Given the description of an element on the screen output the (x, y) to click on. 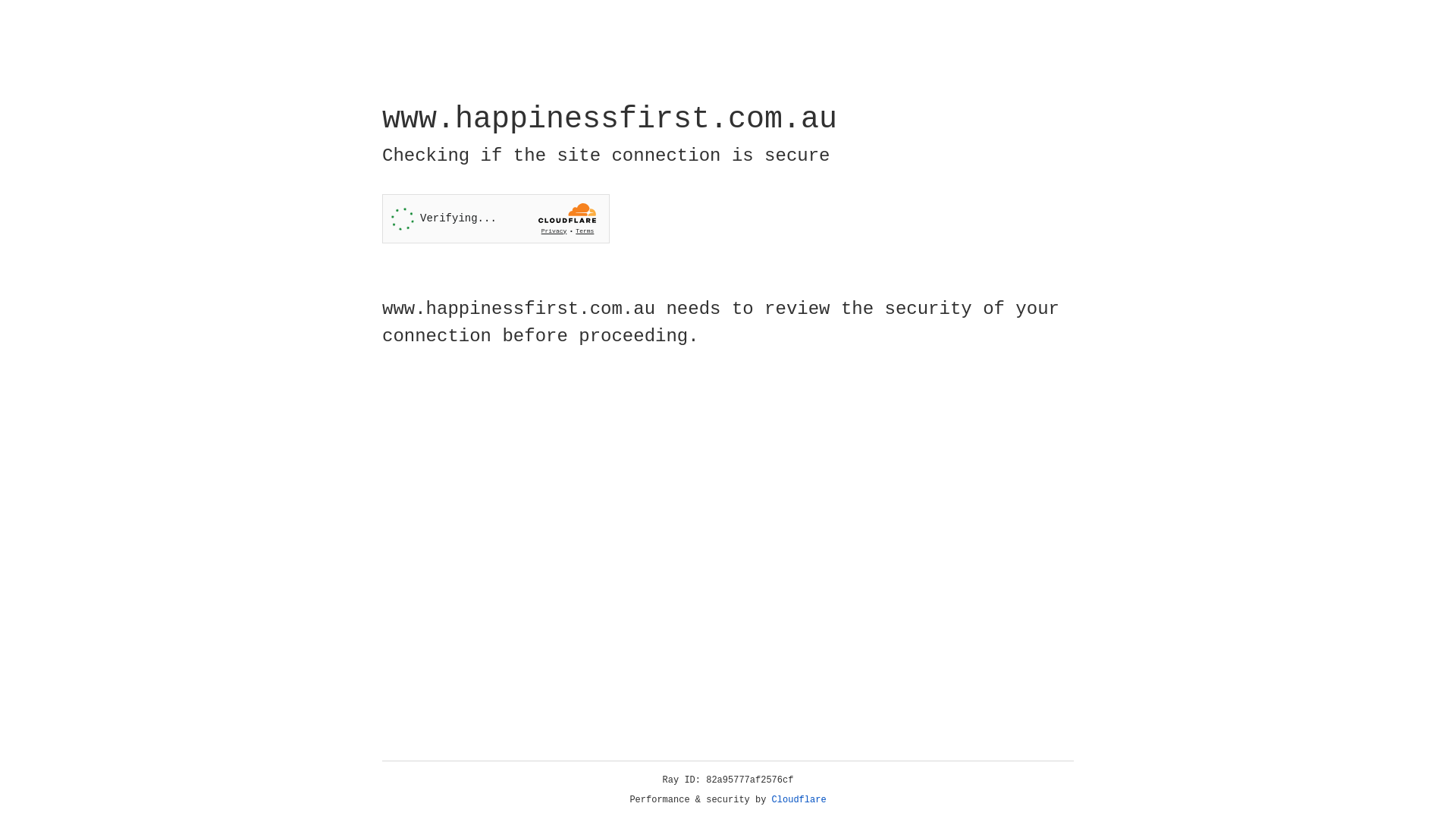
Widget containing a Cloudflare security challenge Element type: hover (495, 218)
Cloudflare Element type: text (798, 799)
